Given the description of an element on the screen output the (x, y) to click on. 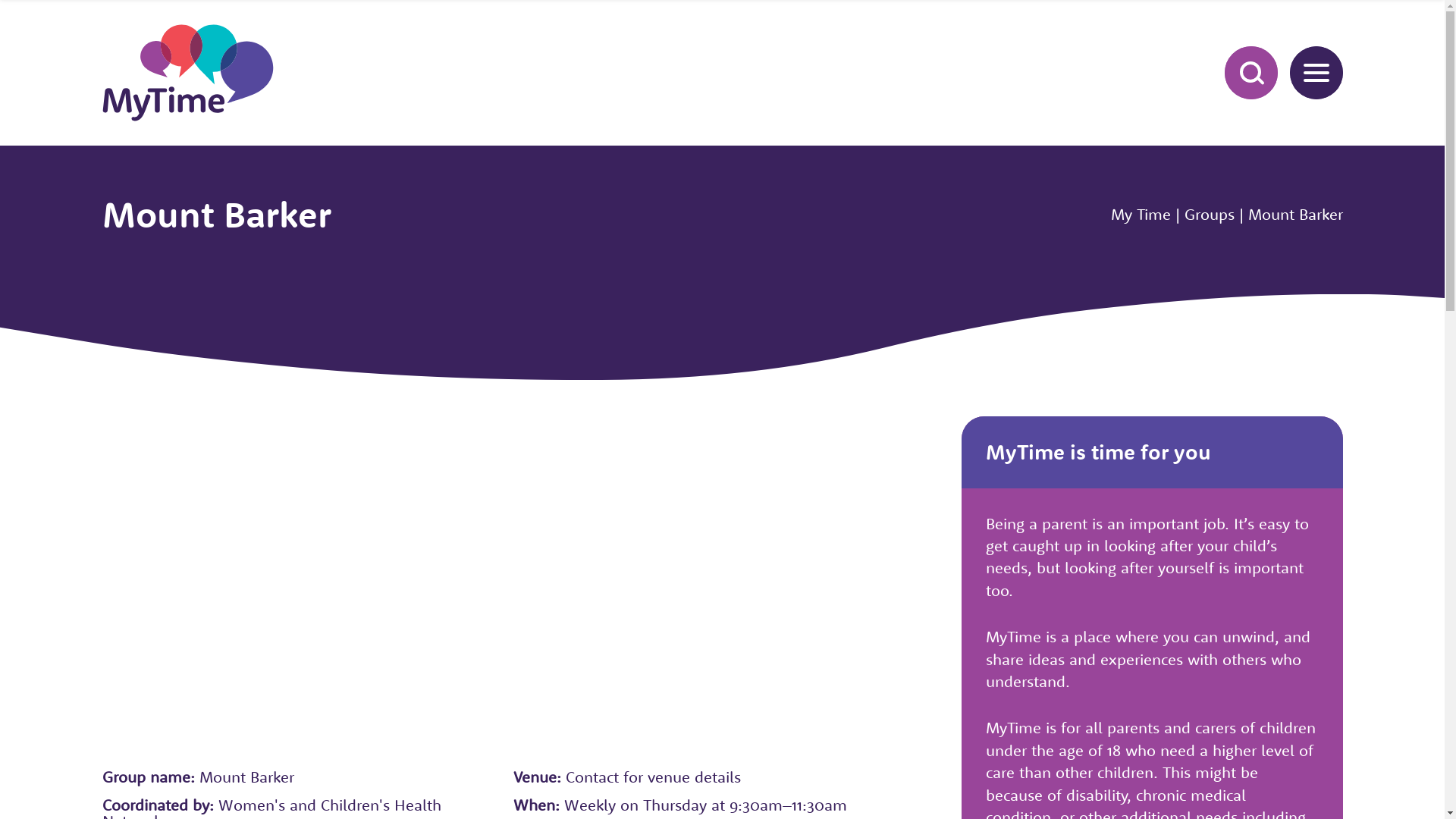
SEARCH Element type: text (1250, 72)
Groups Element type: text (1209, 213)
My Time Element type: text (1140, 213)
MENU Element type: text (1315, 72)
